Given the description of an element on the screen output the (x, y) to click on. 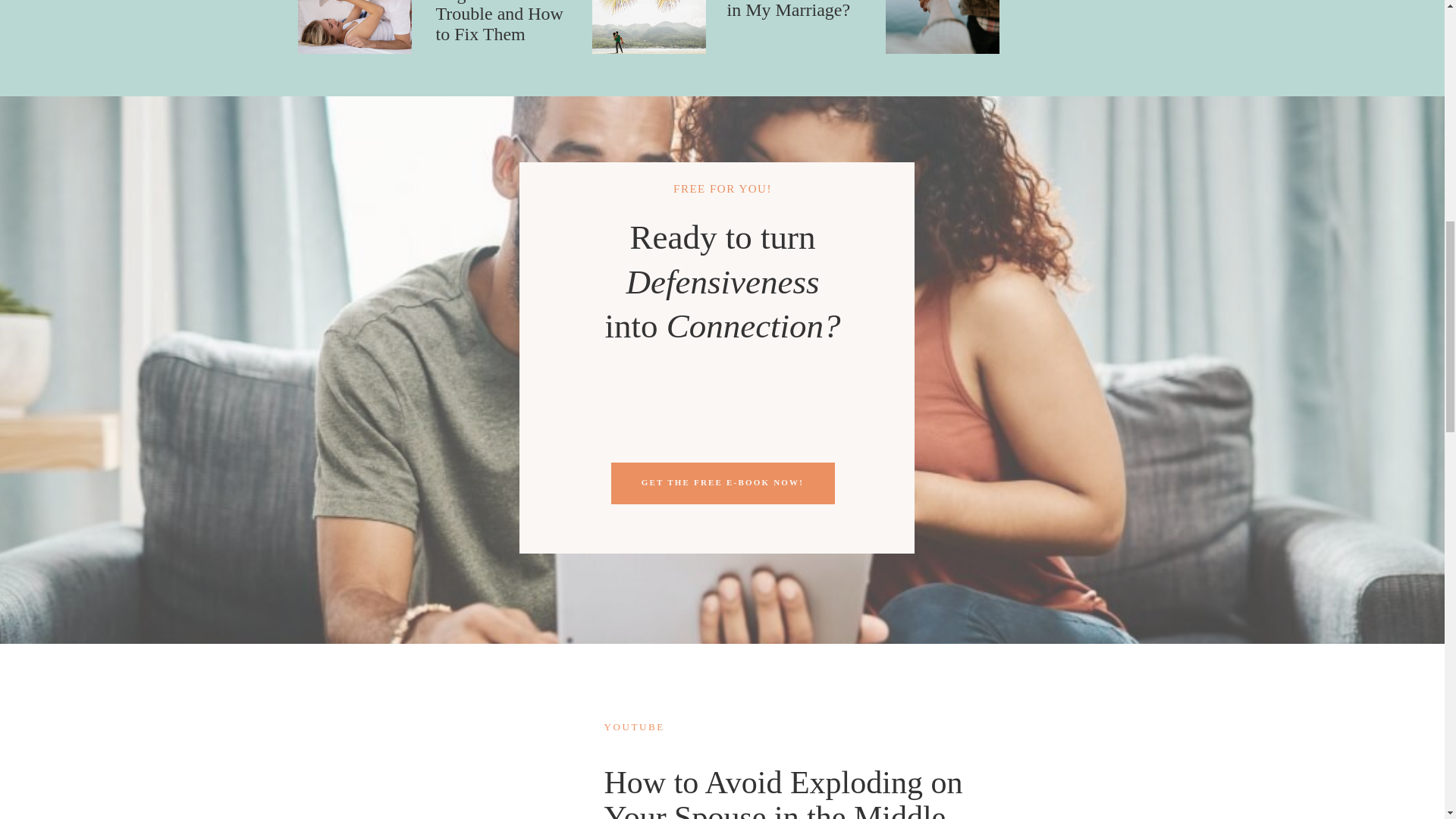
YOUTUBE (633, 726)
GET THE FREE E-BOOK NOW! (721, 481)
